Given the description of an element on the screen output the (x, y) to click on. 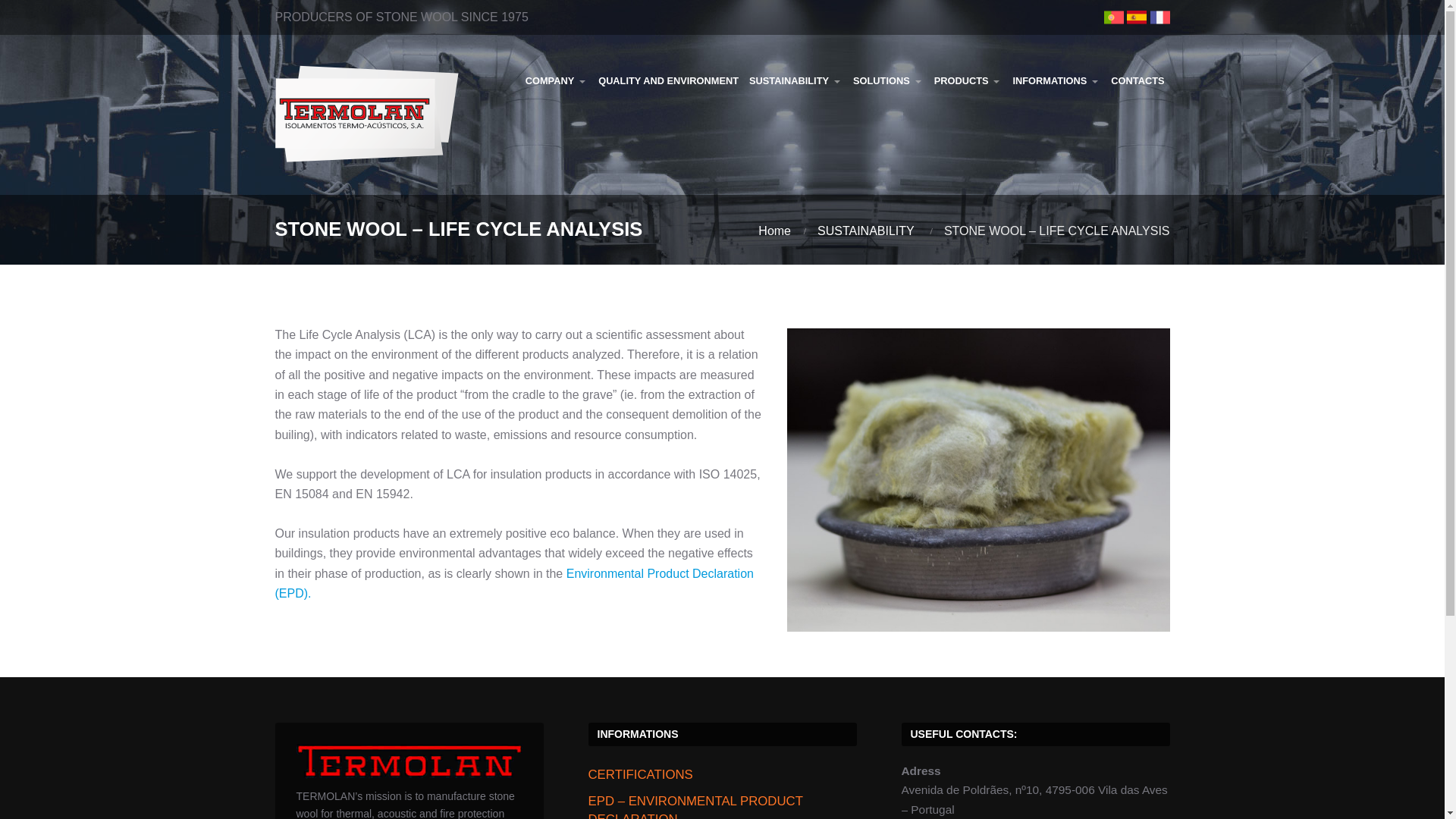
QUALITY AND ENVIRONMENT (668, 80)
PRODUCTS (967, 80)
SUSTAINABILITY (795, 80)
COMPANY (555, 80)
INFORMATIONS (1056, 80)
SOLUTIONS (887, 80)
